Given the description of an element on the screen output the (x, y) to click on. 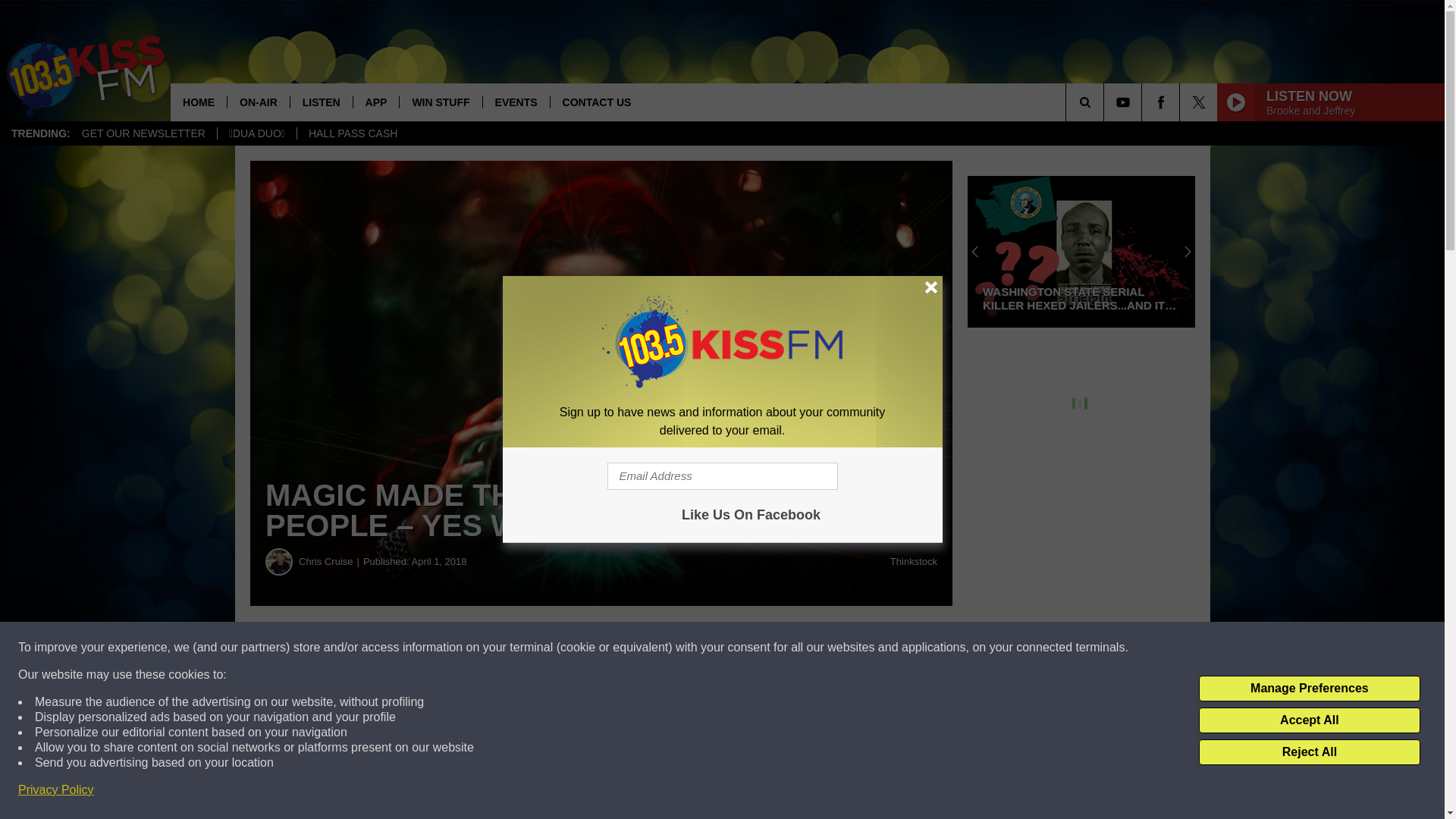
HALL PASS CASH (353, 133)
LISTEN (320, 102)
GET OUR NEWSLETTER (142, 133)
Email Address (722, 475)
HOME (198, 102)
SEARCH (1106, 102)
SEARCH (1106, 102)
Reject All (1309, 751)
CONTACT US (596, 102)
Manage Preferences (1309, 688)
Share on Twitter (741, 647)
Privacy Policy (55, 789)
Share on Facebook (460, 647)
Accept All (1309, 720)
EVENTS (515, 102)
